Given the description of an element on the screen output the (x, y) to click on. 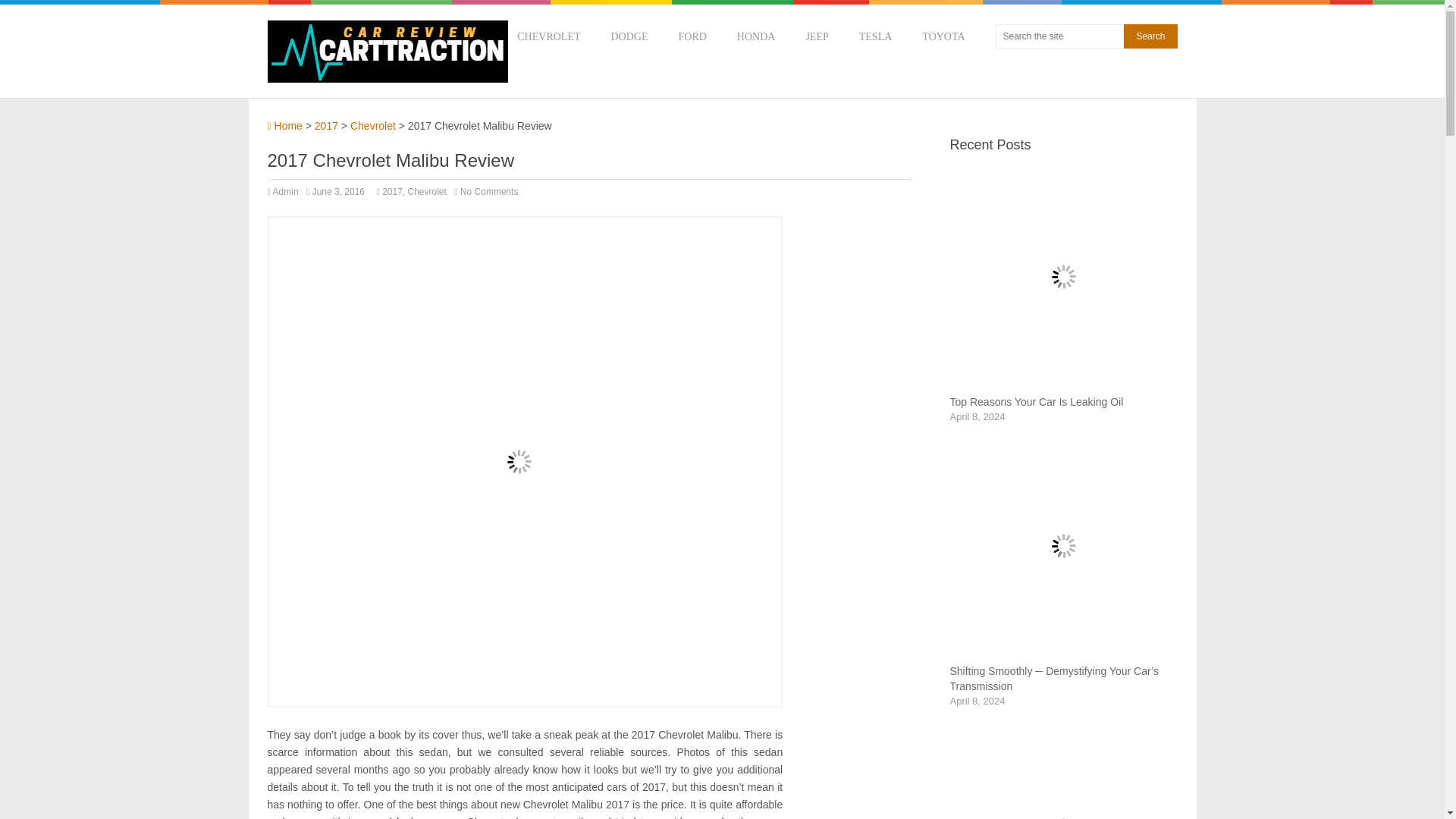
No Comments (489, 191)
Admin (285, 191)
FORD (692, 36)
Search (1150, 36)
CHEVROLET (547, 36)
Top Reasons Your Car Is Leaking Oil (1035, 401)
DODGE (629, 36)
TOYOTA (942, 36)
Search (1150, 36)
JEEP (816, 36)
